Given the description of an element on the screen output the (x, y) to click on. 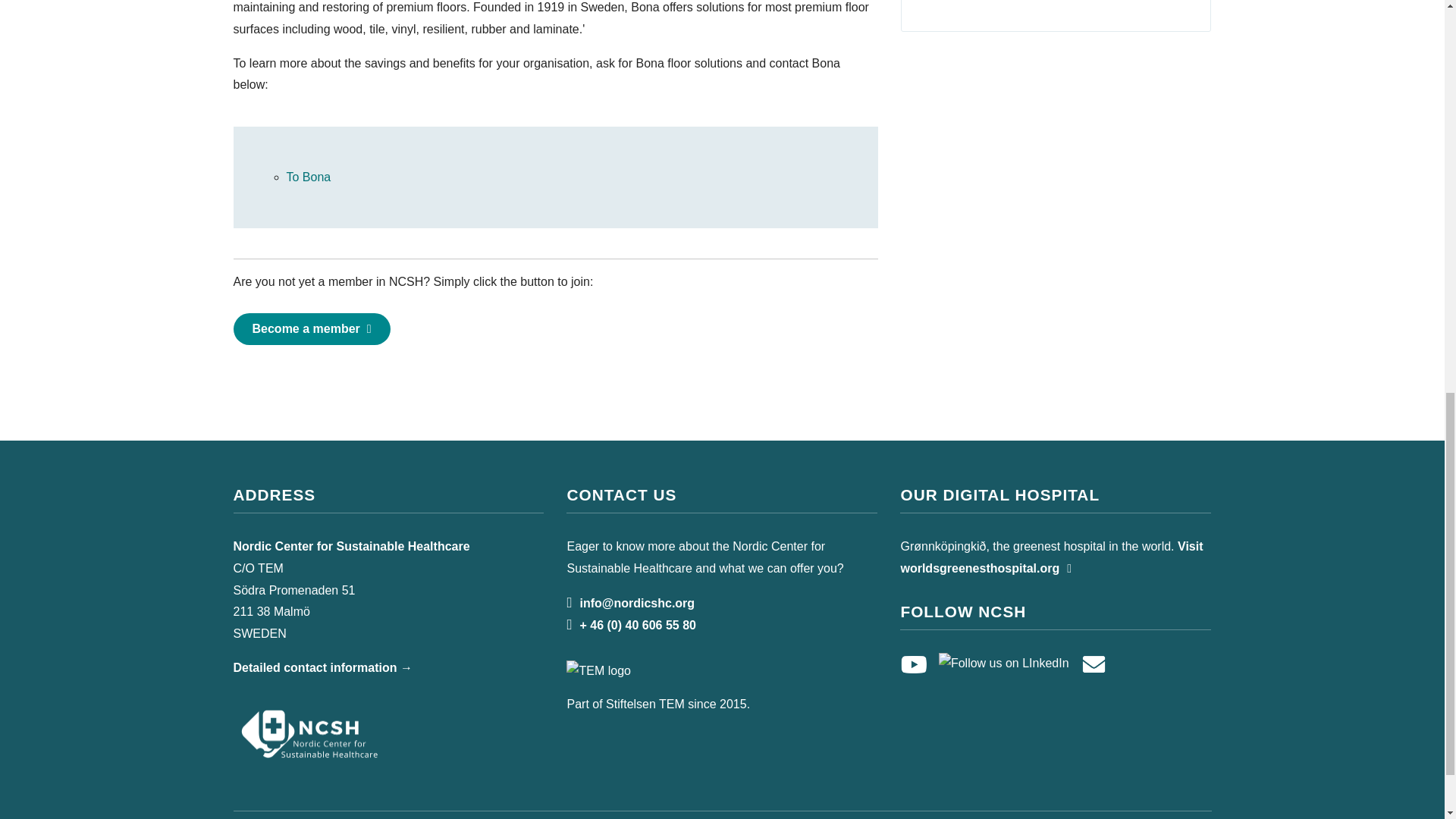
Detailed contact information (322, 667)
Visit worldsgreenesthospital.org (1050, 556)
Visit TEM:s website (634, 669)
Nordic Center for Sustainable Healthcare (308, 732)
Become a member (311, 328)
To Bona (308, 176)
